Given the description of an element on the screen output the (x, y) to click on. 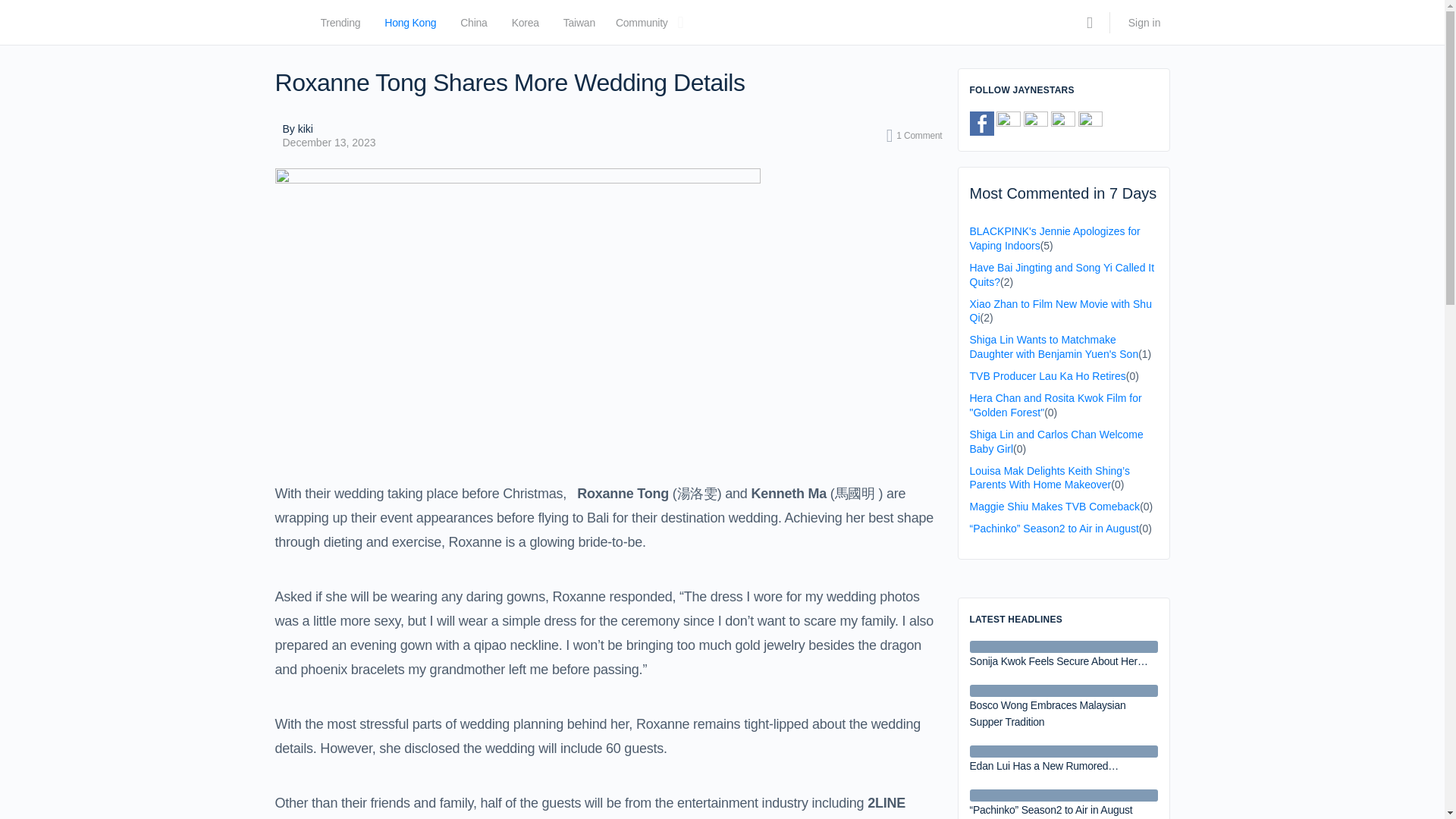
Hong Kong (409, 25)
Korea (525, 25)
Sign in (1144, 22)
December 13, 2023 (328, 142)
Twitter (1007, 122)
Trending (339, 25)
1 Comment (914, 135)
Pinterest (1035, 122)
Facebook (980, 122)
China (473, 25)
Taiwan (579, 25)
By kiki (328, 128)
Community (641, 25)
